Given the description of an element on the screen output the (x, y) to click on. 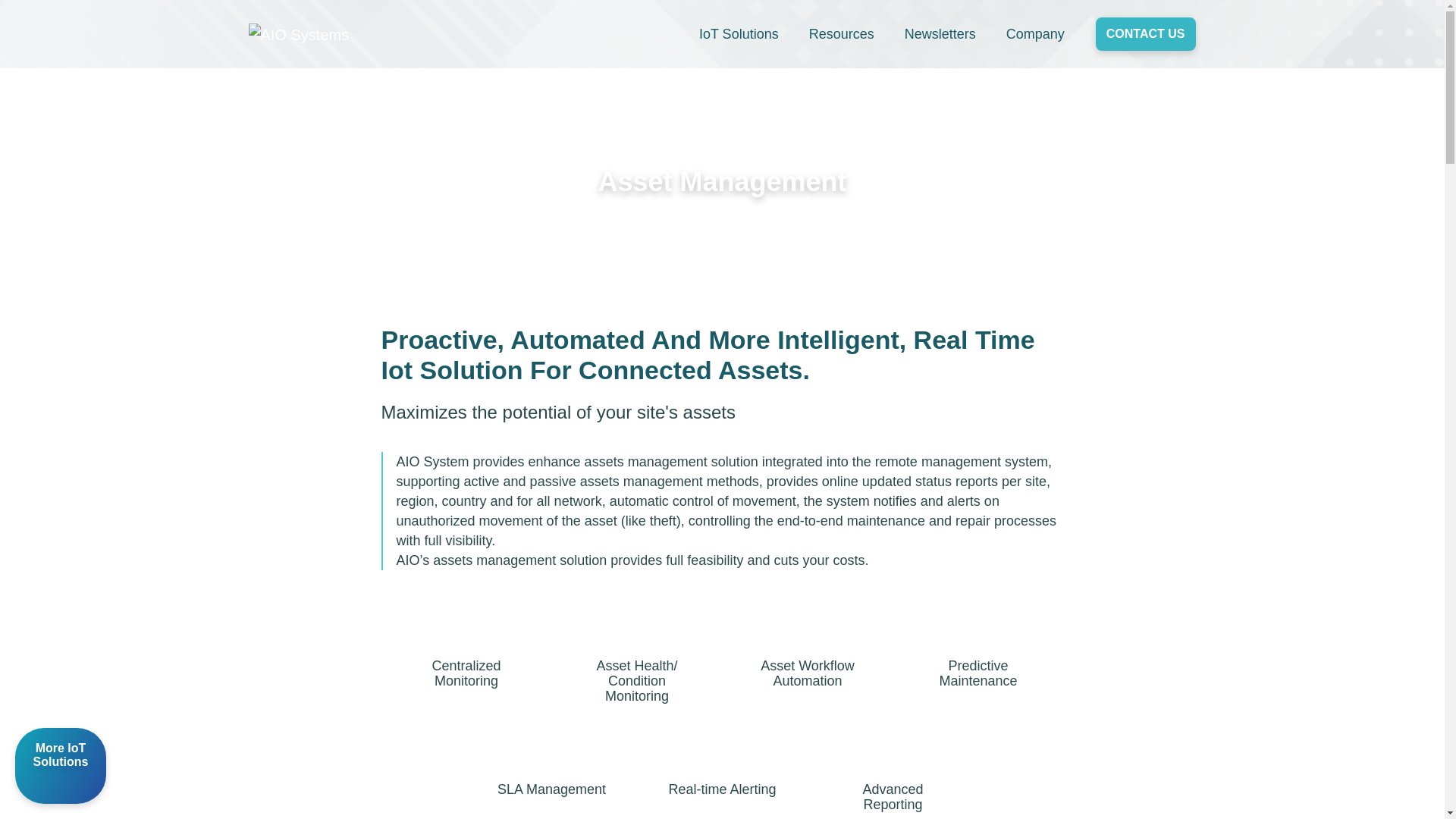
IoT Solutions (738, 34)
IoT Solutions (738, 34)
Newsletters (939, 34)
Company (1035, 34)
Resources (842, 34)
Resources (842, 34)
Newsletters (939, 34)
Company (1035, 34)
CONTACT US (1145, 33)
